Given the description of an element on the screen output the (x, y) to click on. 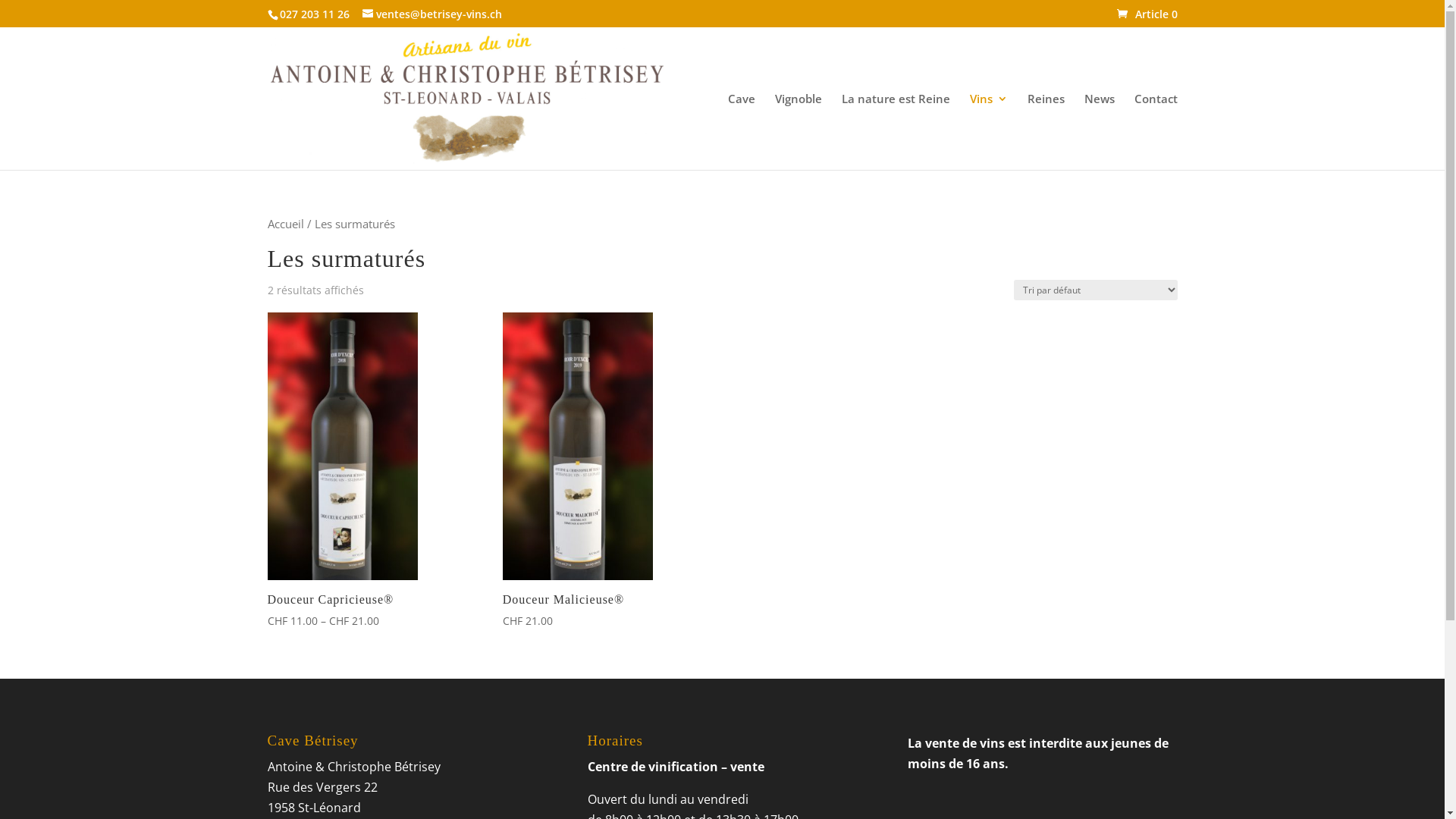
News Element type: text (1099, 131)
Accueil Element type: text (284, 223)
Contact Element type: text (1155, 131)
Reines Element type: text (1044, 131)
La nature est Reine Element type: text (895, 131)
Article 0 Element type: text (1146, 13)
ventes@betrisey-vins.ch Element type: text (432, 13)
Cave Element type: text (741, 131)
Vins Element type: text (988, 131)
Vignoble Element type: text (798, 131)
